Given the description of an element on the screen output the (x, y) to click on. 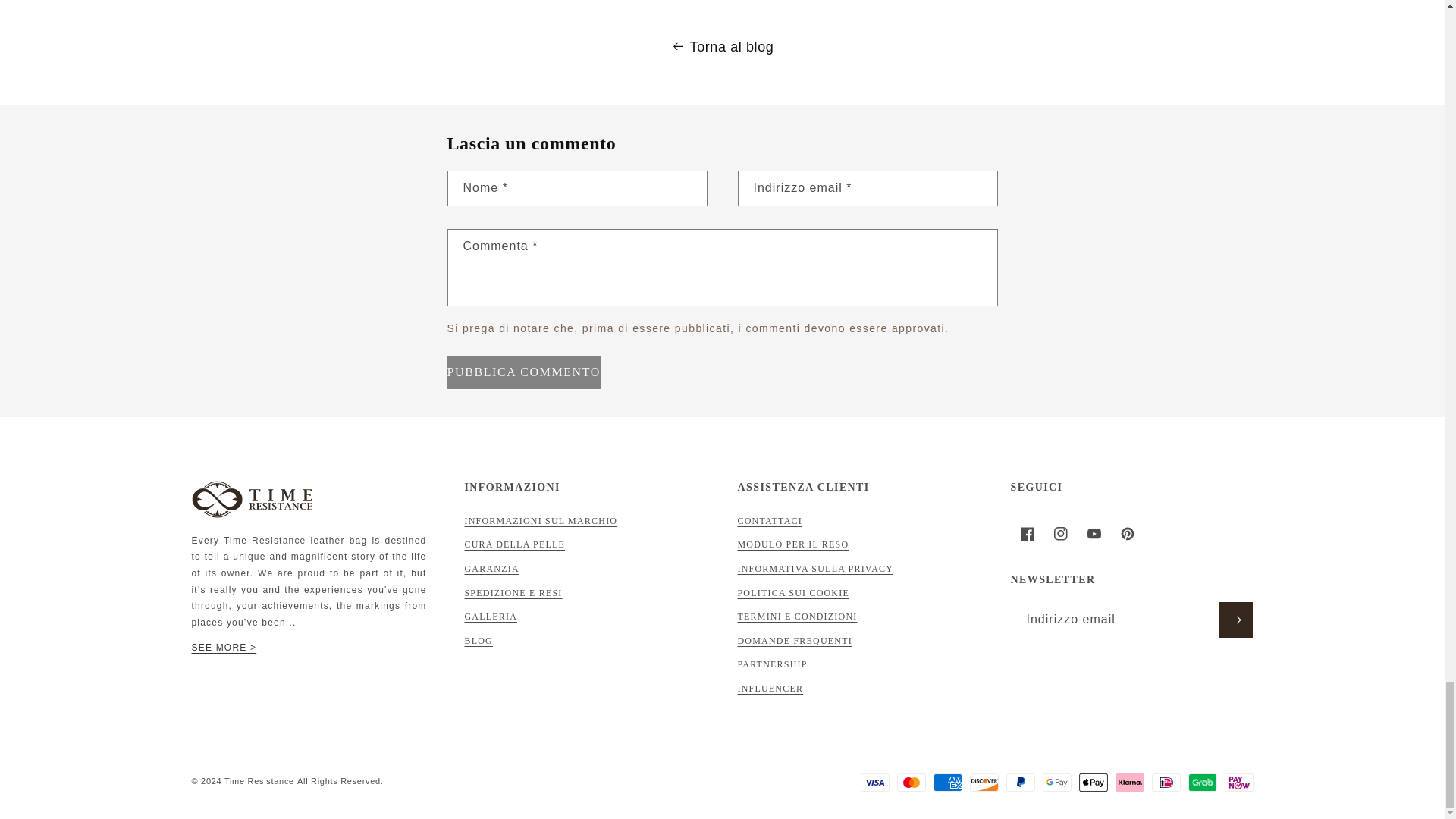
Pubblica commento (523, 372)
About Brand (223, 647)
Pubblica commento (523, 372)
